Given the description of an element on the screen output the (x, y) to click on. 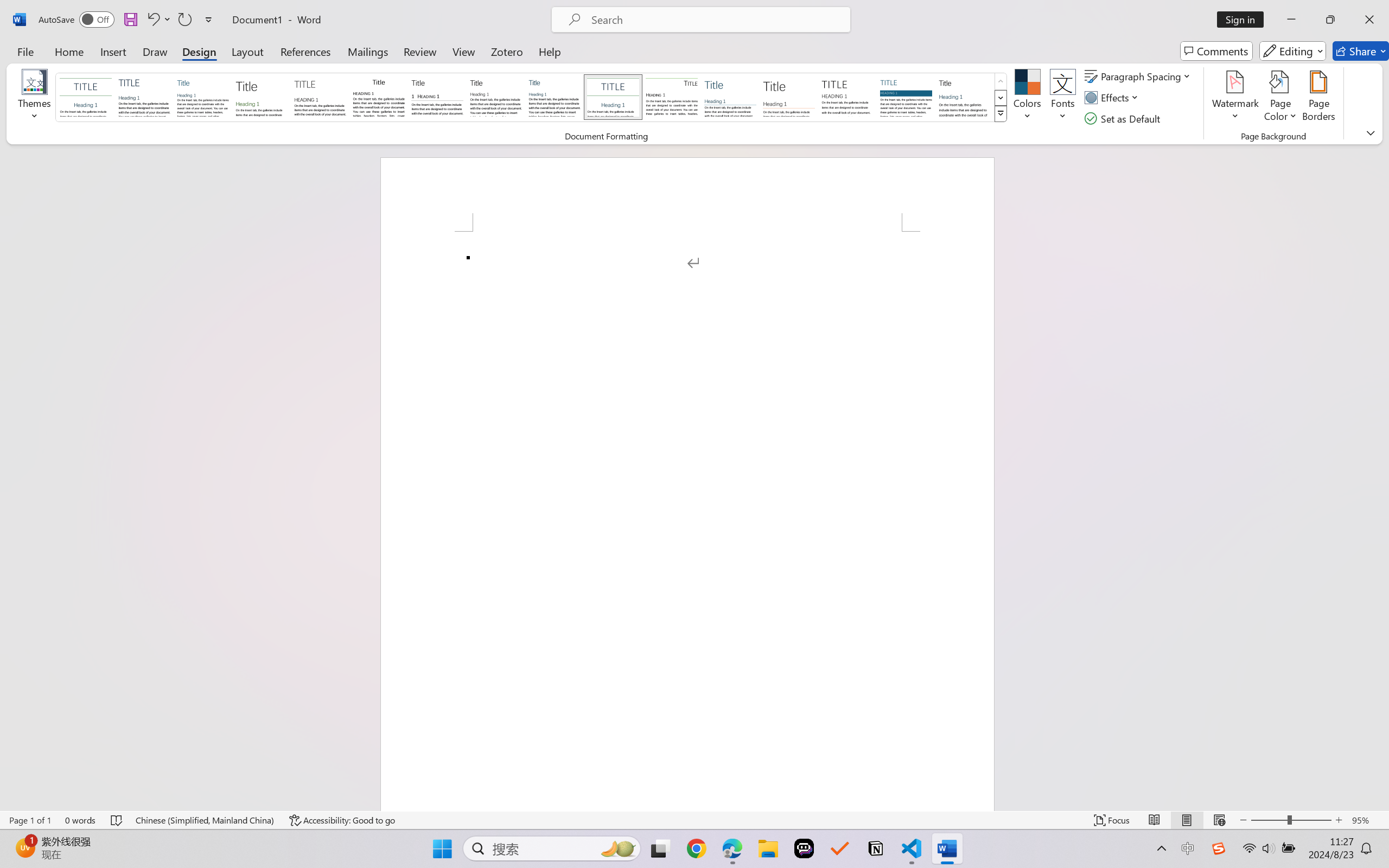
Black & White (Capitalized) (320, 96)
Colors (1027, 97)
Themes (34, 97)
